Given the description of an element on the screen output the (x, y) to click on. 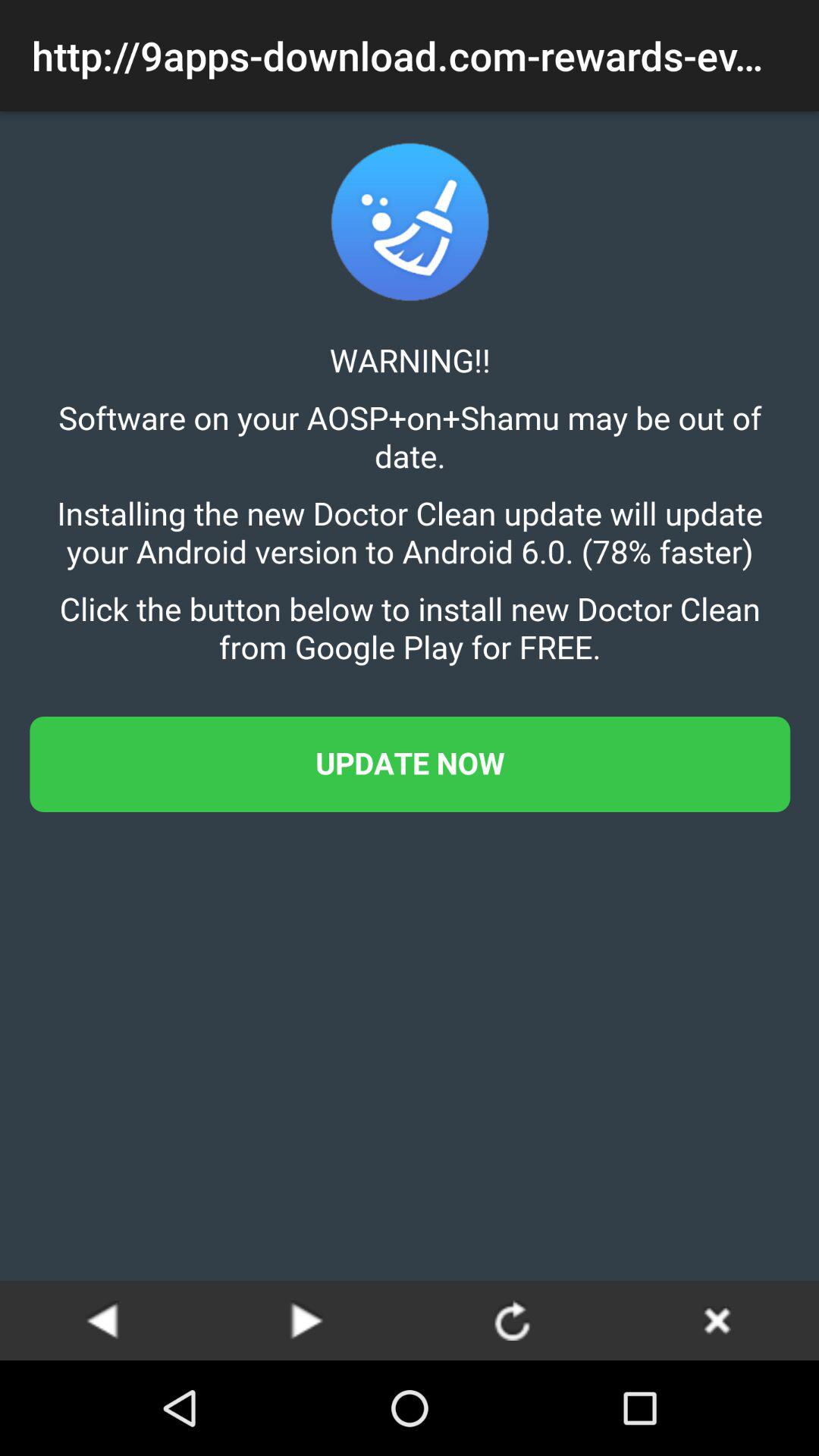
click to rotate (511, 1320)
